Given the description of an element on the screen output the (x, y) to click on. 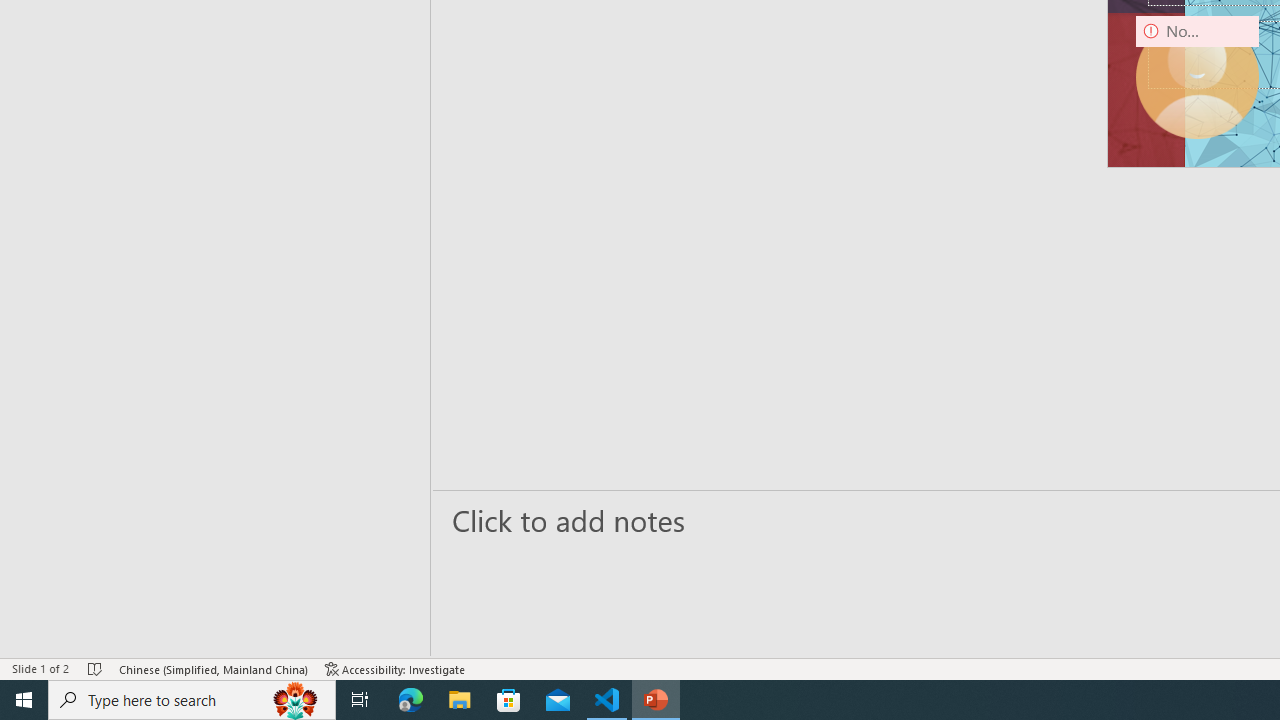
Microsoft Edge (411, 699)
Camera 9, No camera detected. (1197, 77)
Visual Studio Code - 1 running window (607, 699)
File Explorer (460, 699)
PowerPoint - 1 running window (656, 699)
Task View (359, 699)
Type here to search (191, 699)
Search highlights icon opens search home window (295, 699)
Microsoft Store (509, 699)
